Given the description of an element on the screen output the (x, y) to click on. 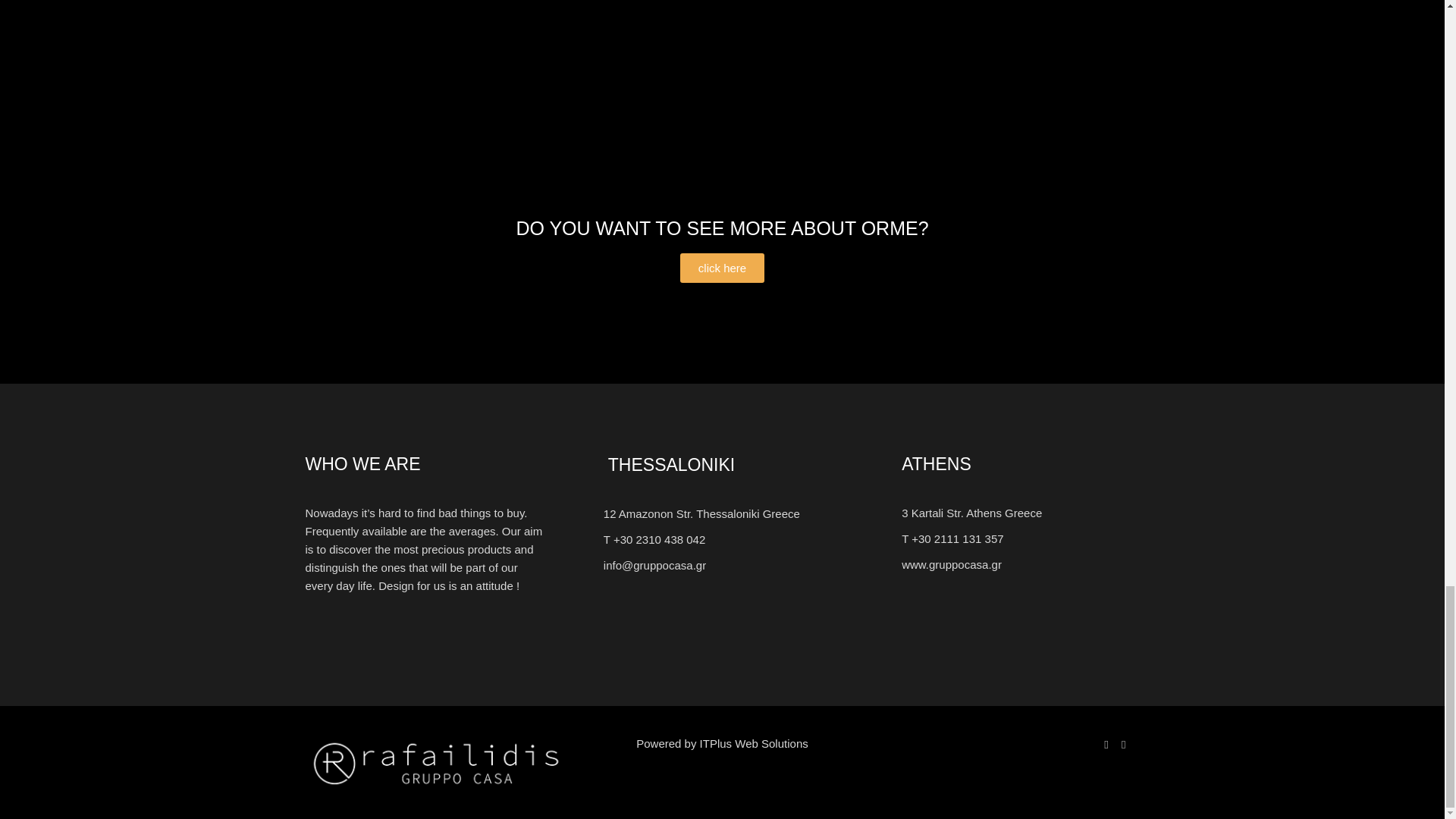
Powered by ITPlus Web Solutions (722, 743)
click here (721, 267)
